Given the description of an element on the screen output the (x, y) to click on. 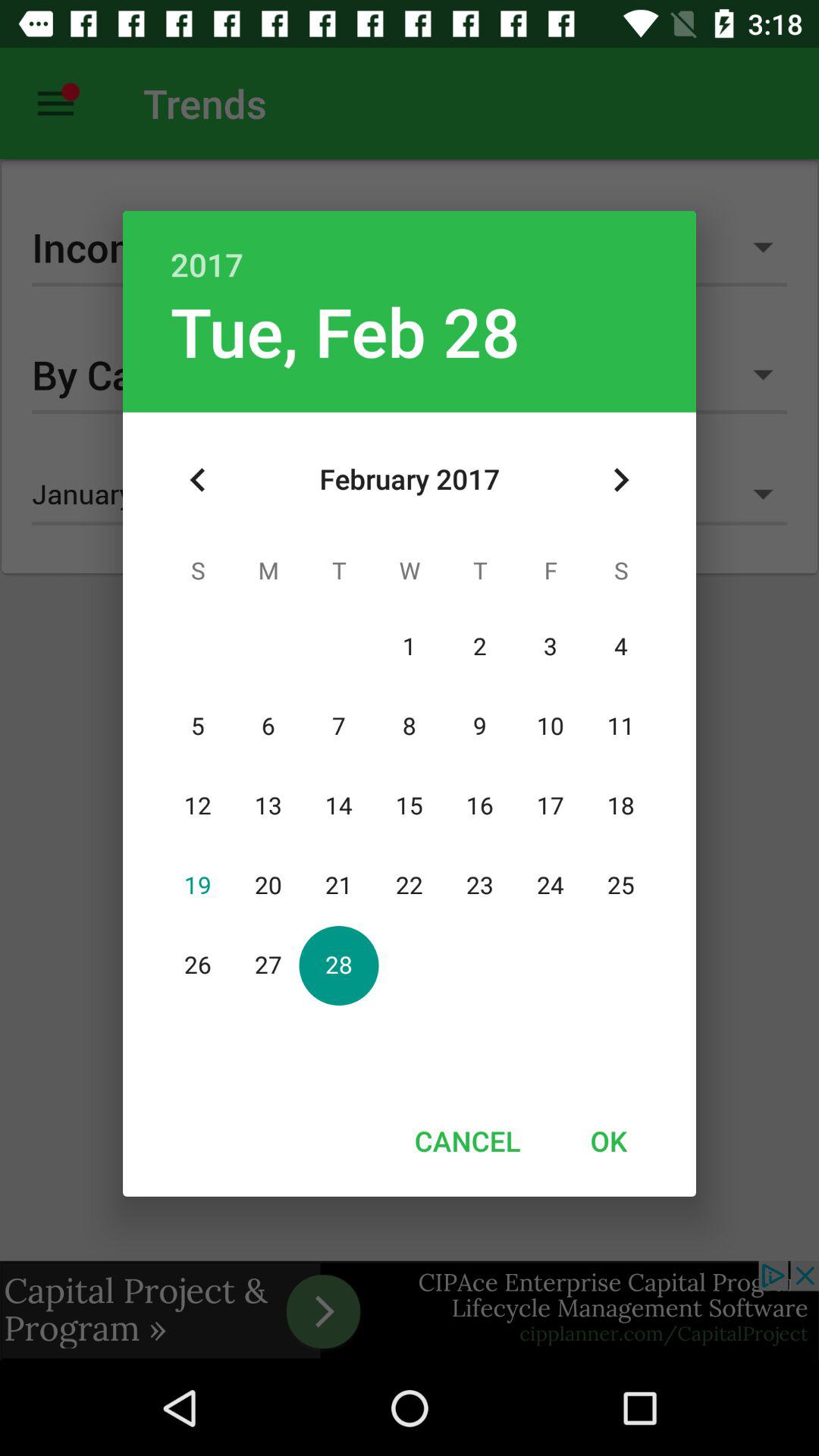
tap item next to ok (467, 1140)
